Given the description of an element on the screen output the (x, y) to click on. 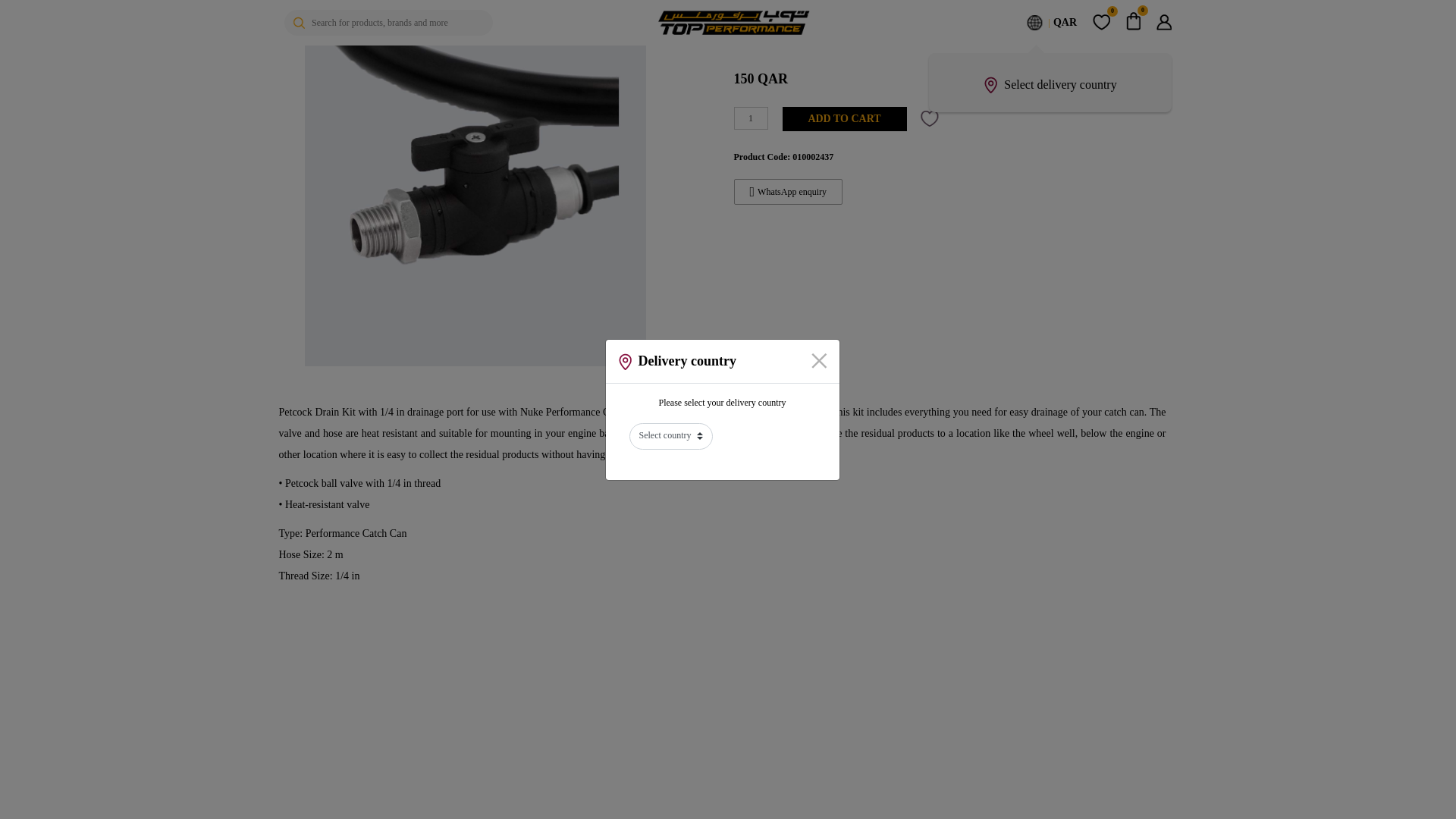
WhatsApp enquiry (788, 191)
Add to cart (845, 119)
1 (750, 118)
WhatsApp enquiry (751, 192)
NUKE PERFORMANCE (810, 2)
